Given the description of an element on the screen output the (x, y) to click on. 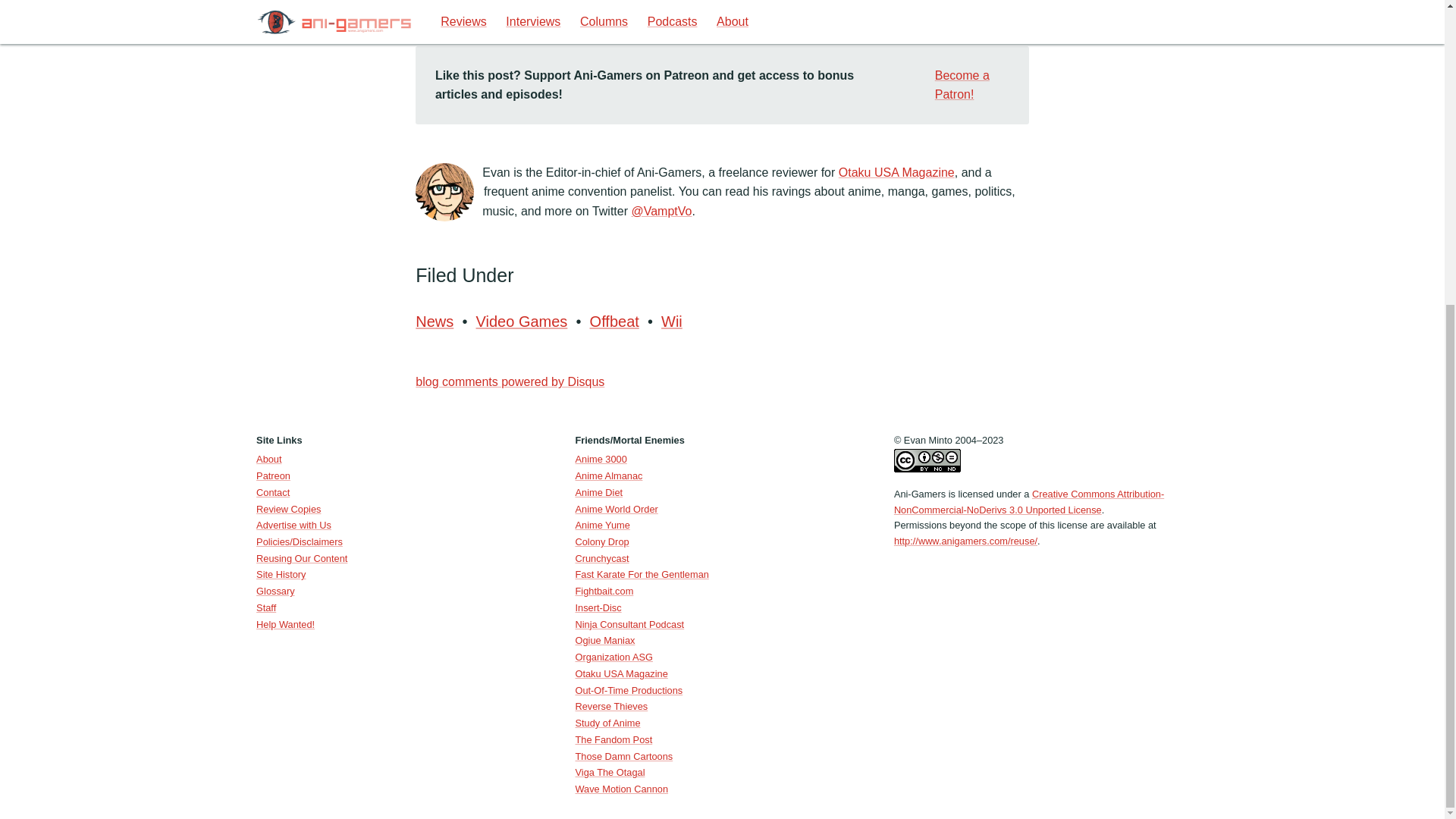
Wii (670, 321)
Glossary (275, 591)
Become a Patron! (960, 84)
Patreon (272, 475)
News (434, 321)
Site History (280, 573)
Otaku USA Magazine (896, 172)
Advertise with Us (293, 524)
blog comments powered by Disqus (509, 381)
Offbeat (614, 321)
Joystiq (467, 6)
Contact (272, 491)
Want to advertise on our blog? (293, 524)
Send us a comment, question, suggestion, or news tip (272, 491)
